Given the description of an element on the screen output the (x, y) to click on. 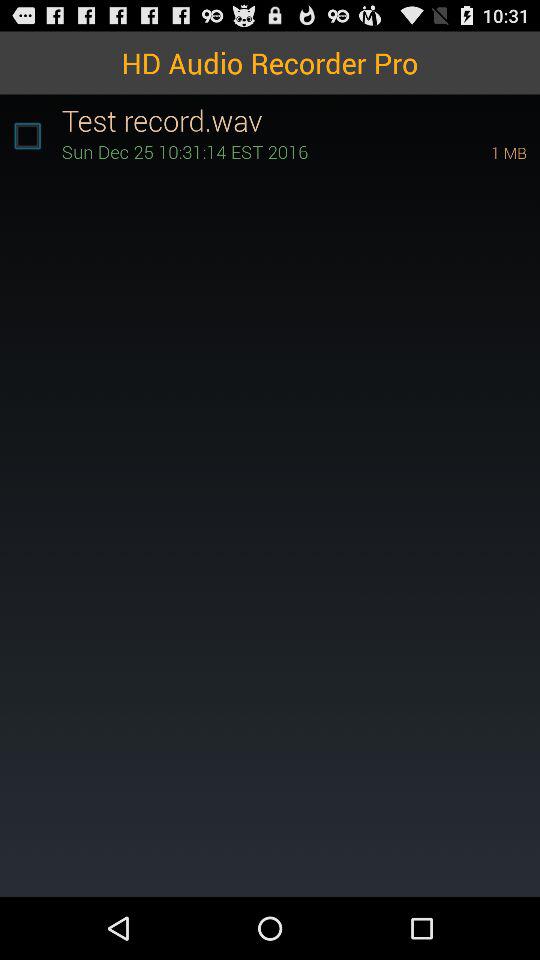
press app below the test record.wav item (248, 151)
